Given the description of an element on the screen output the (x, y) to click on. 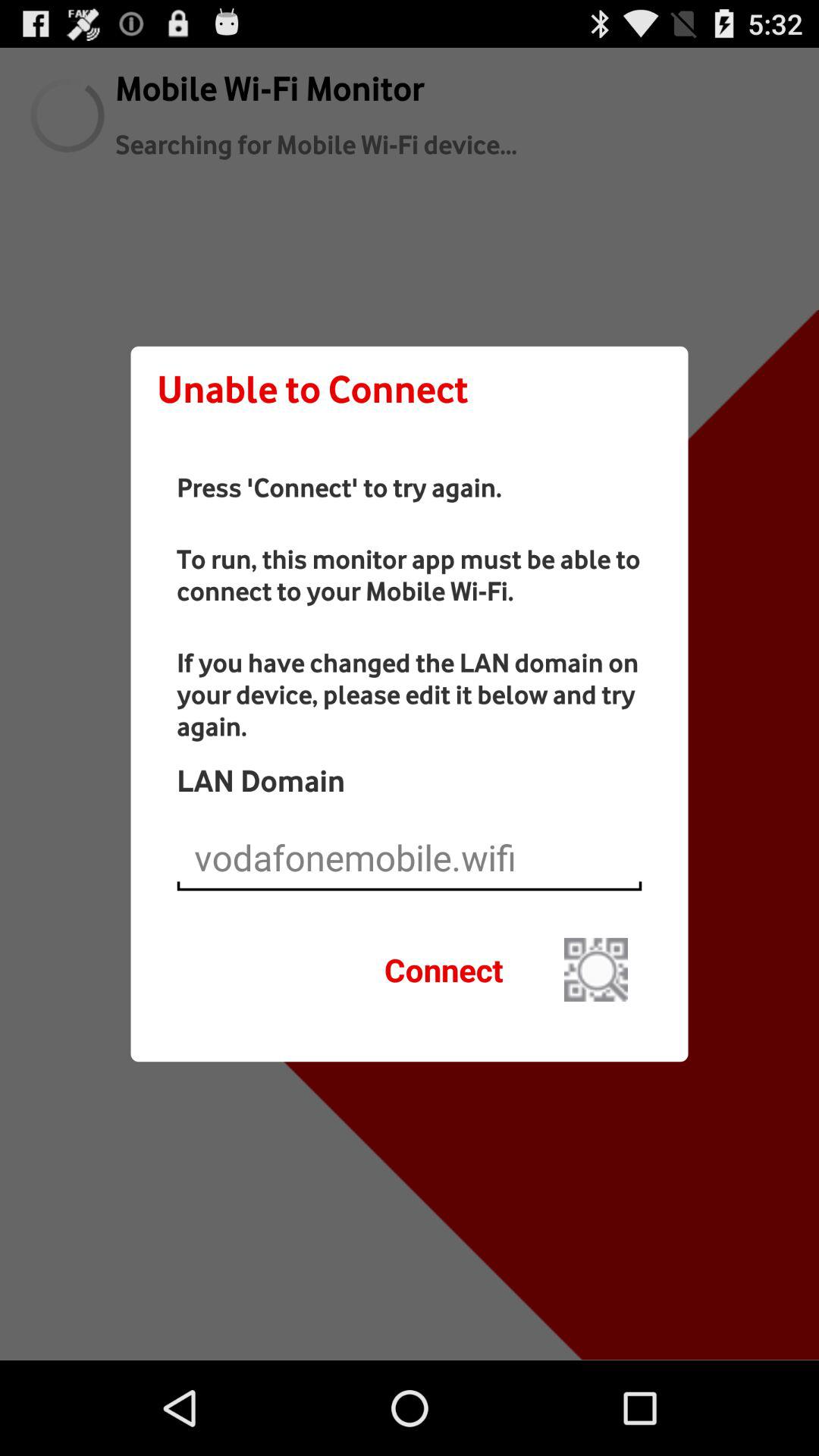
scan qr code (595, 969)
